Given the description of an element on the screen output the (x, y) to click on. 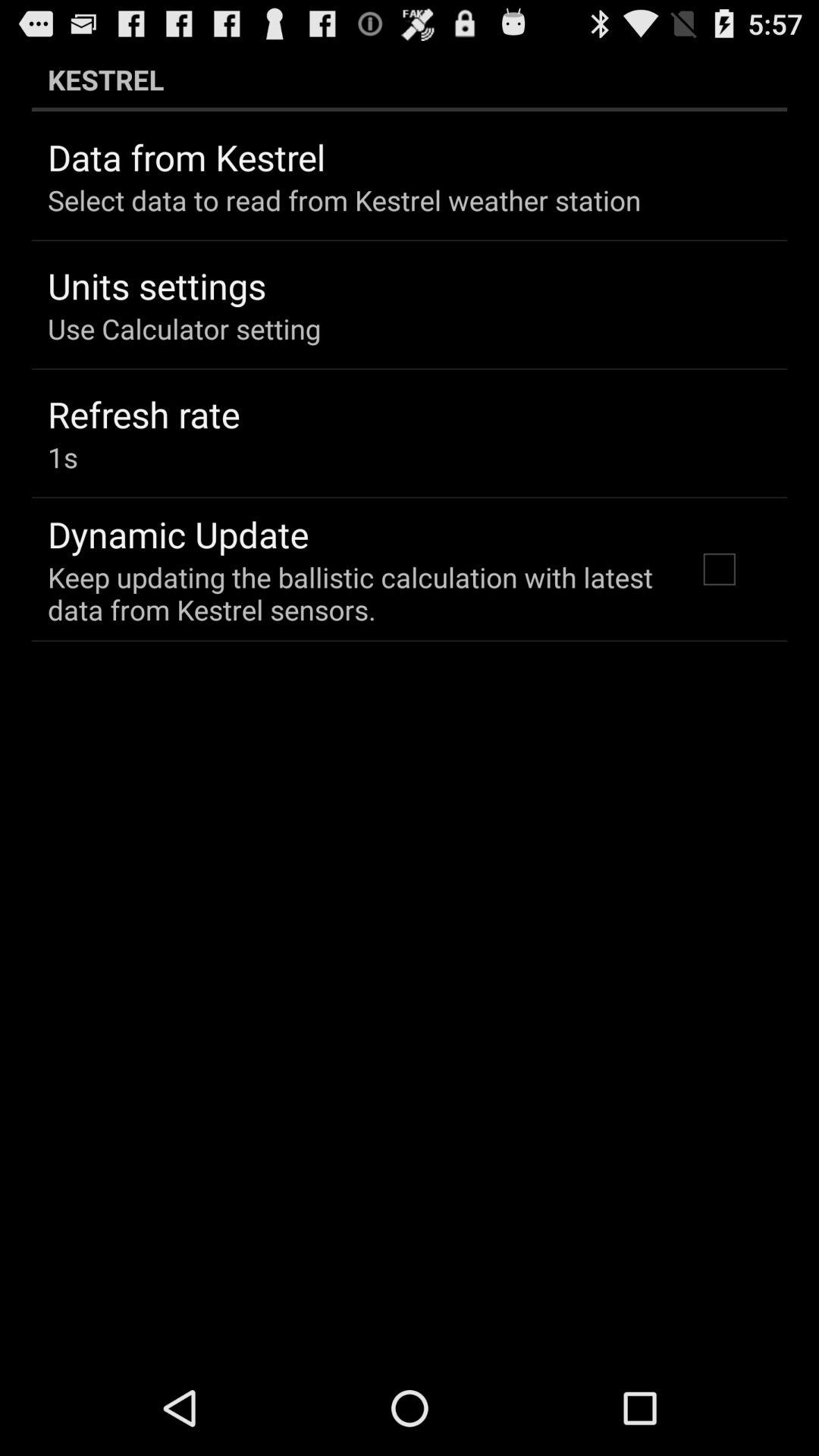
click checkbox on the right (719, 569)
